Given the description of an element on the screen output the (x, y) to click on. 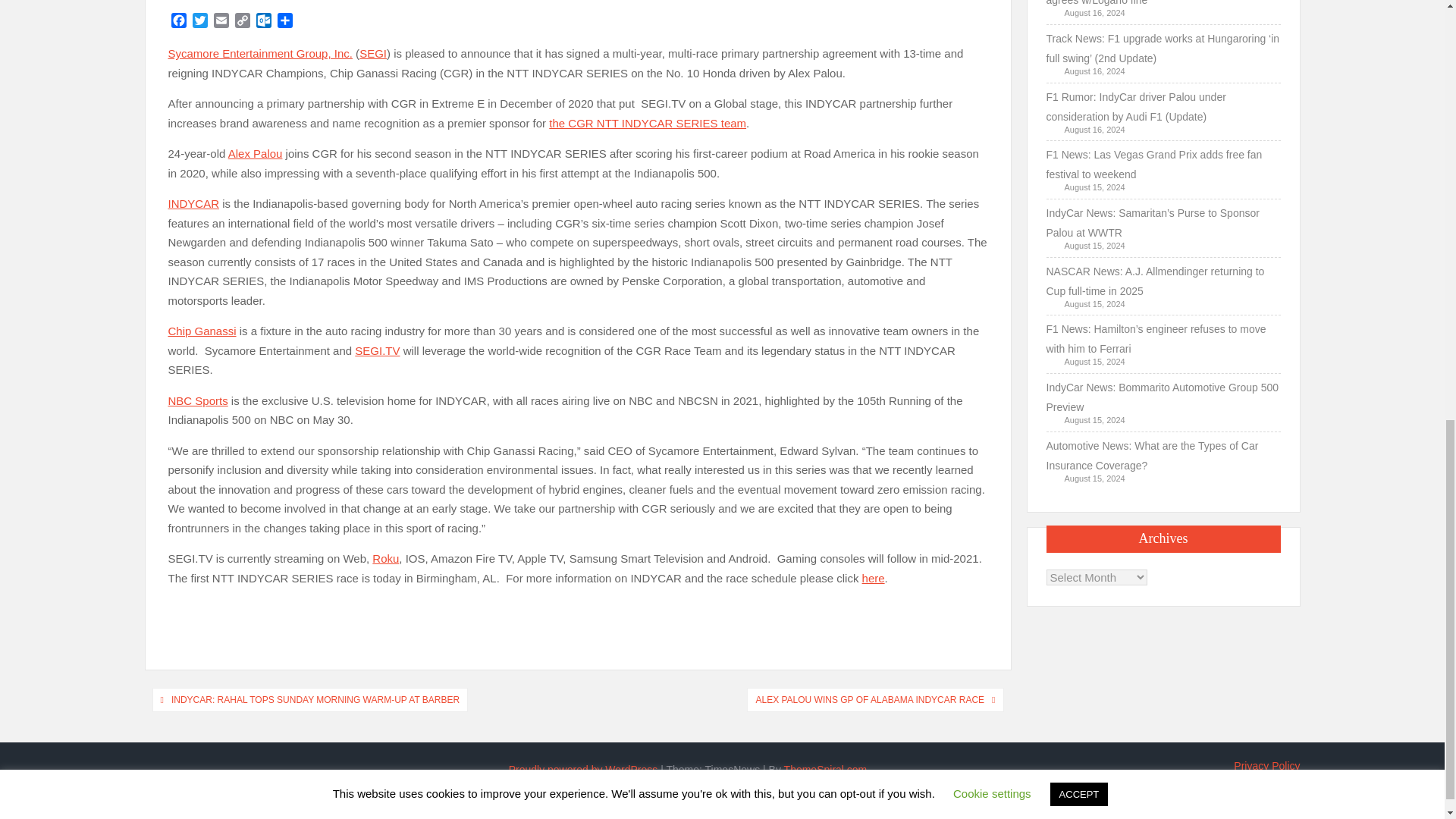
Twitter (200, 22)
Outlook.com (264, 22)
Social Media Auto Publish (665, 804)
Facebook (178, 22)
Copy Link (242, 22)
Email (221, 22)
